Given the description of an element on the screen output the (x, y) to click on. 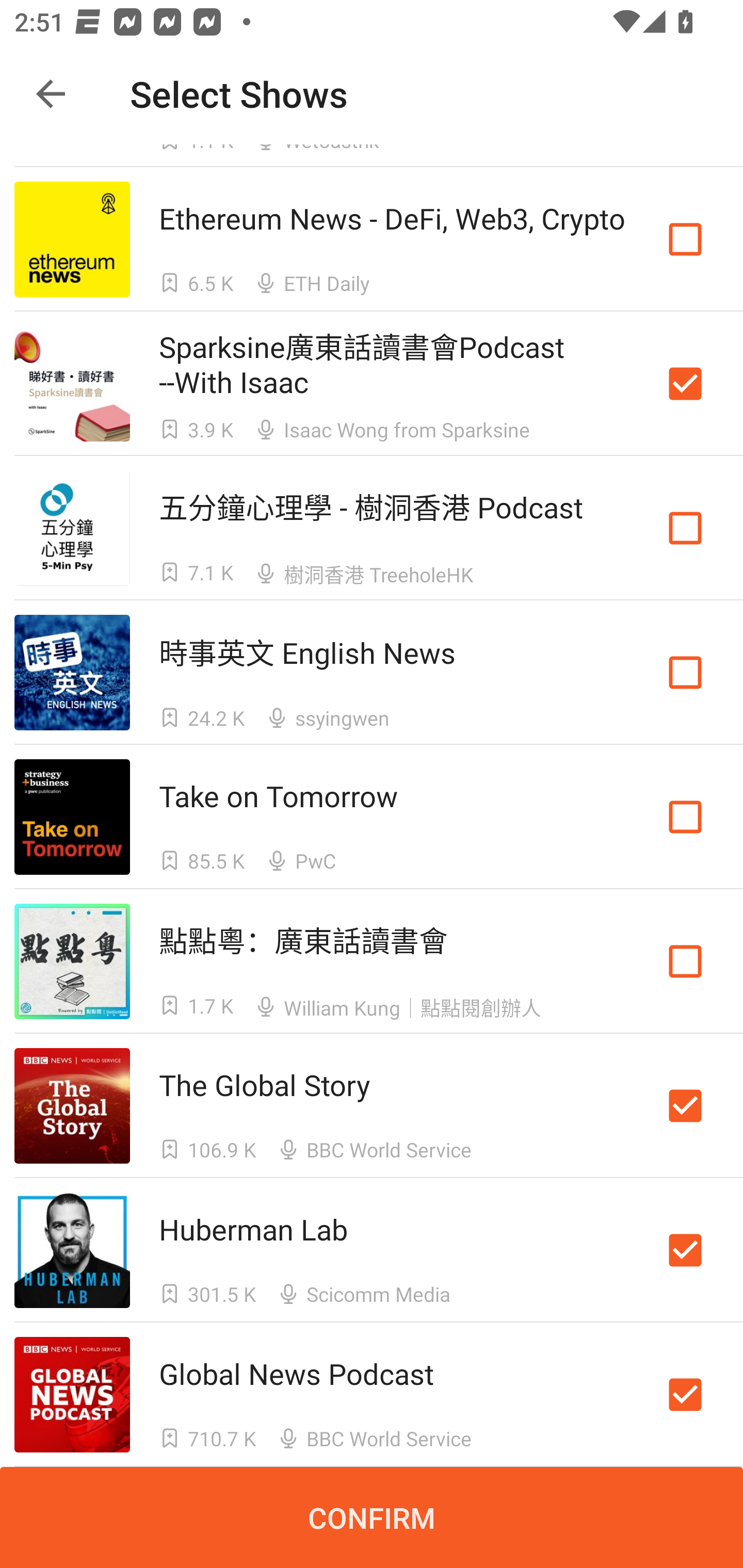
Navigate up (50, 93)
Take on Tomorrow Take on Tomorrow  85.5 K  PwC (371, 816)
CONFIRM (371, 1517)
